Given the description of an element on the screen output the (x, y) to click on. 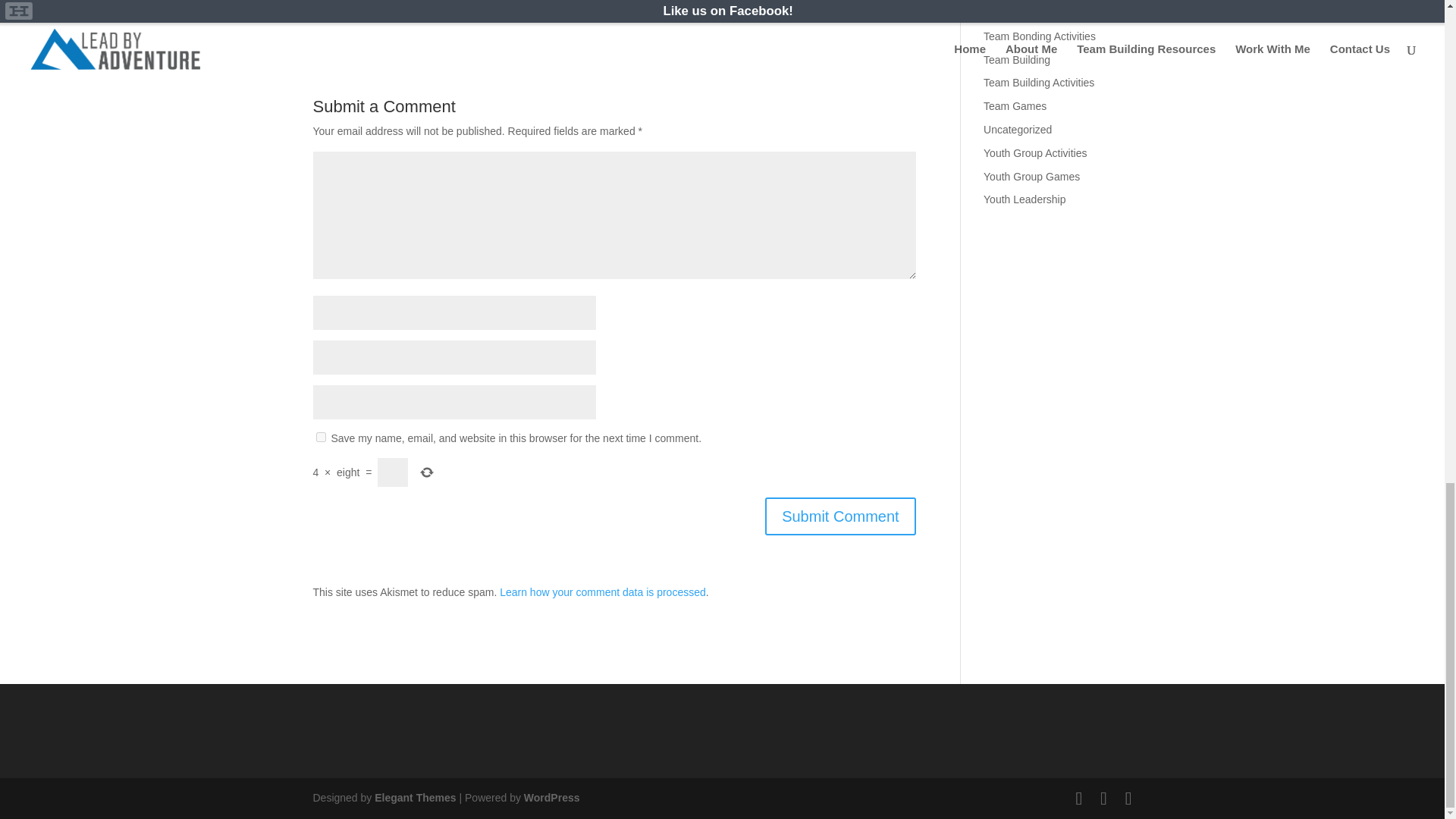
Learn how your comment data is processed (602, 592)
Premium WordPress Themes (414, 797)
Submit Comment (840, 516)
yes (319, 437)
Submit Comment (840, 516)
